Given the description of an element on the screen output the (x, y) to click on. 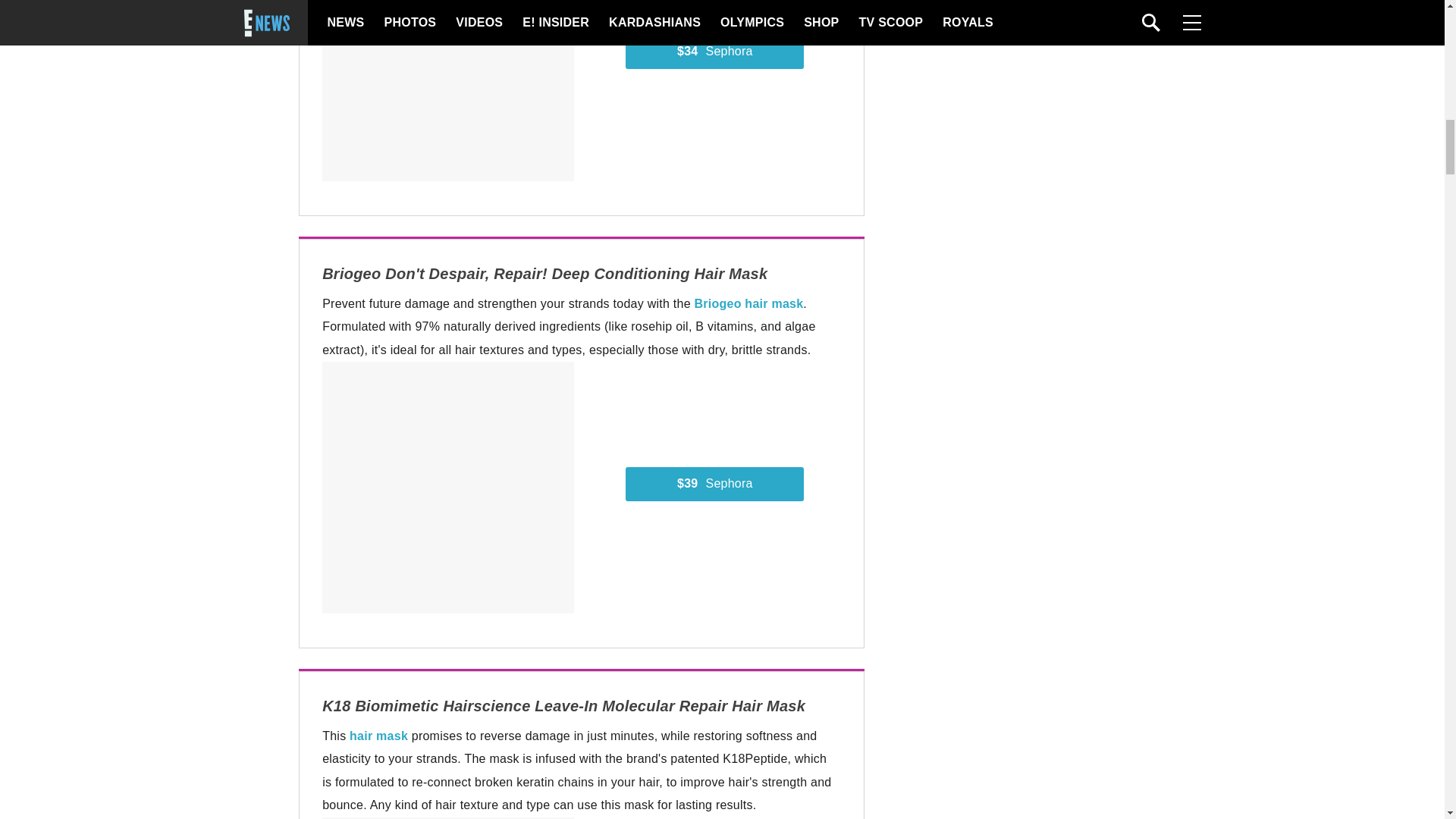
Briogeo hair mask (748, 303)
